Given the description of an element on the screen output the (x, y) to click on. 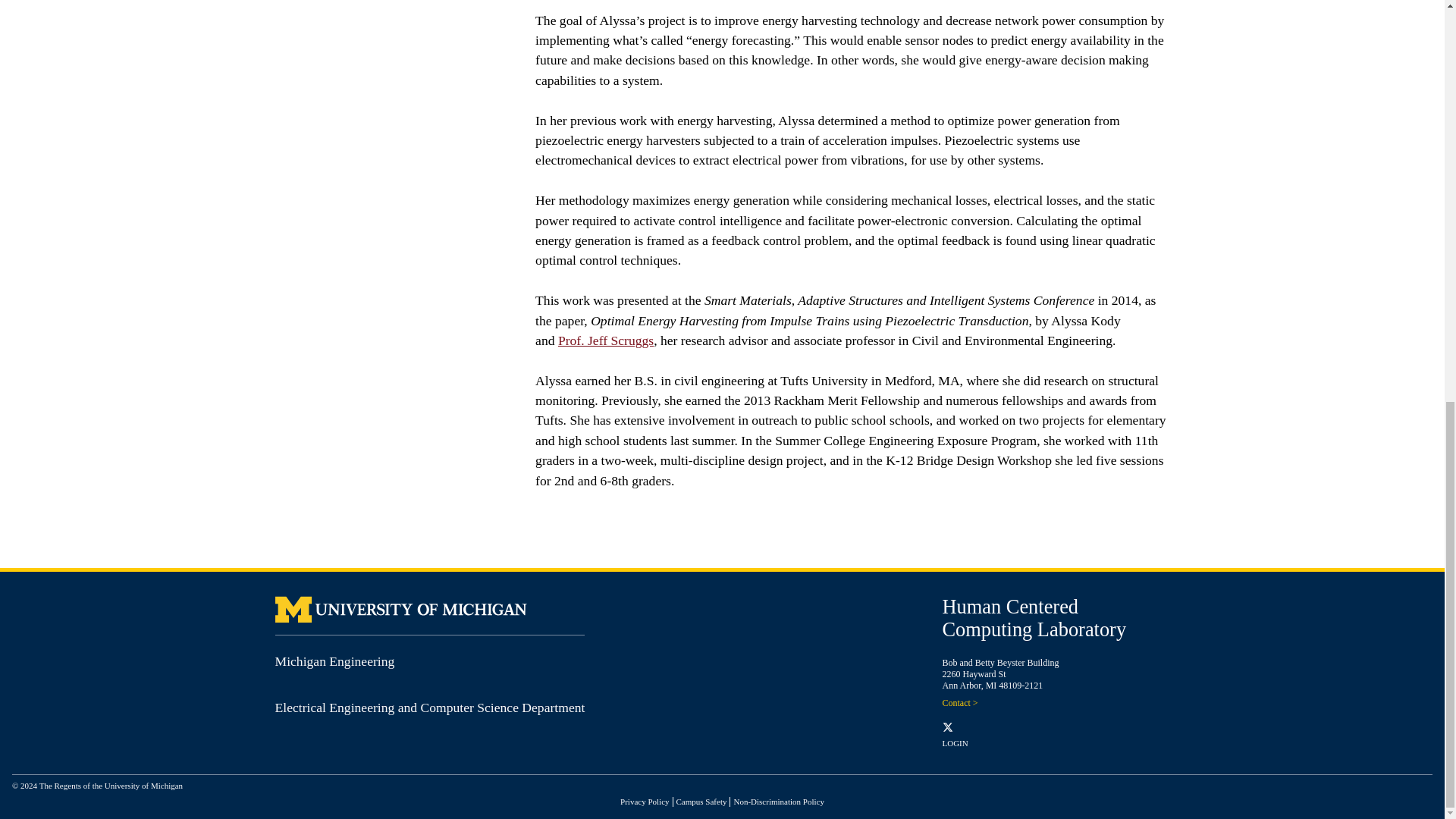
Human Centered Computing Laboratory (1033, 617)
Non-Discrimination Policy (778, 800)
LOGIN (955, 742)
Electrical Engineering and Computer Science Department (430, 707)
Michigan Engineering (334, 661)
Campus Safety (701, 800)
Prof. Jeff Scruggs (605, 340)
The Regents of the University of Michigan (111, 785)
Privacy Policy (644, 800)
